Given the description of an element on the screen output the (x, y) to click on. 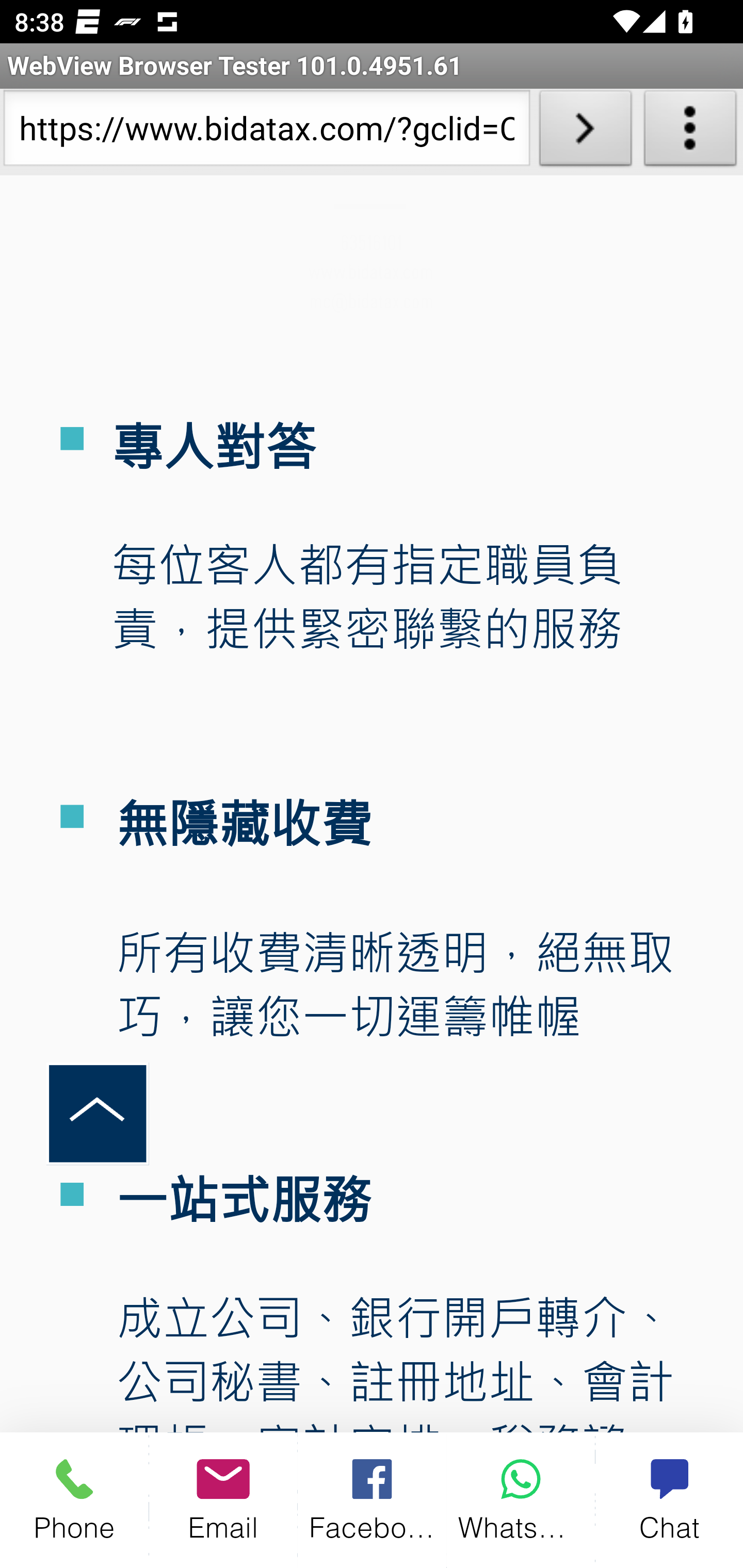
Load URL (585, 132)
About WebView (690, 132)
Phone (74, 1499)
Email (222, 1499)
Facebook (372, 1499)
WhatsApp (520, 1499)
Chat (669, 1499)
